Given the description of an element on the screen output the (x, y) to click on. 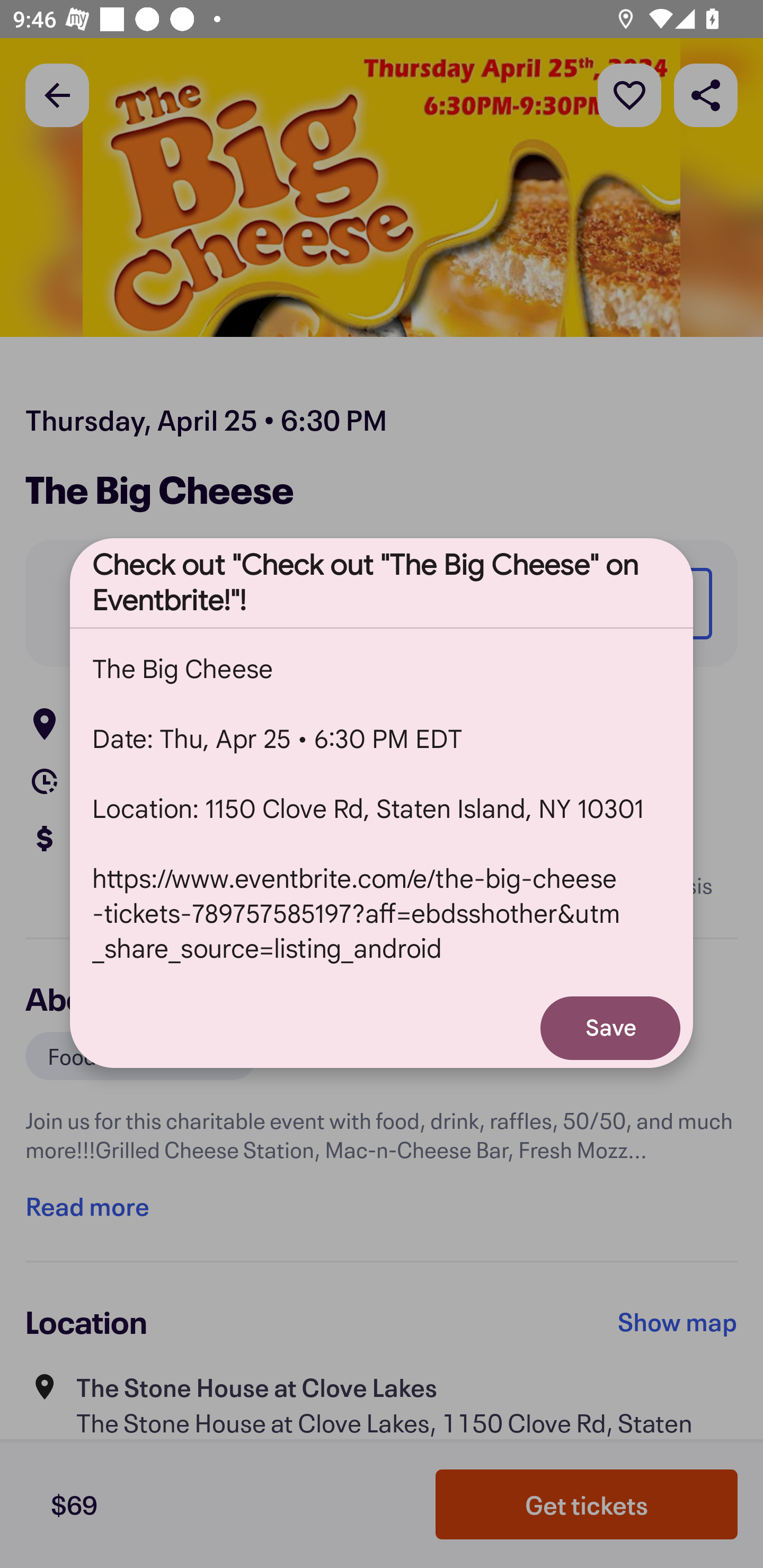
Save (610, 1027)
